Given the description of an element on the screen output the (x, y) to click on. 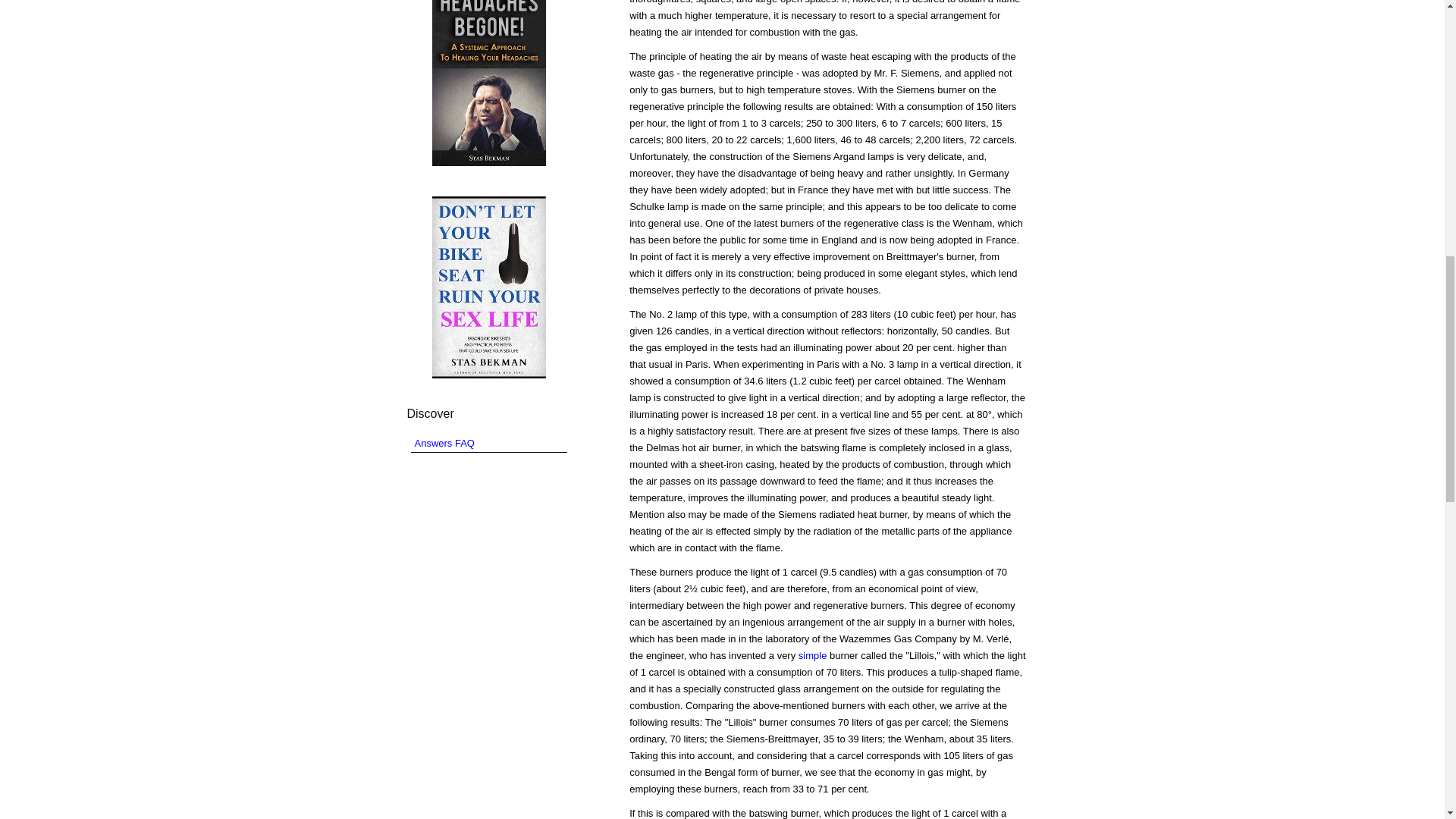
simple (812, 655)
